Given the description of an element on the screen output the (x, y) to click on. 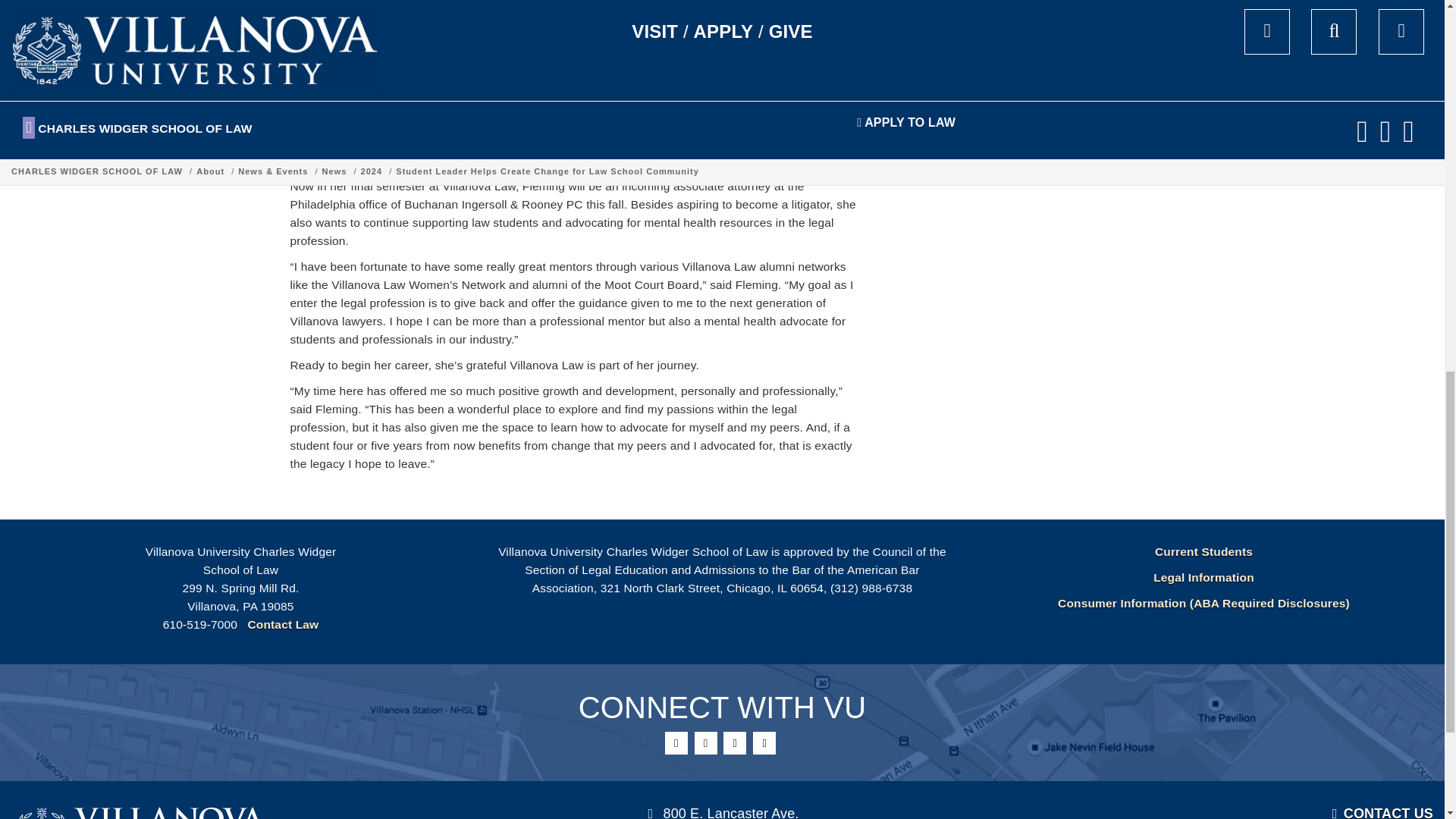
Villanova University (137, 811)
